Given the description of an element on the screen output the (x, y) to click on. 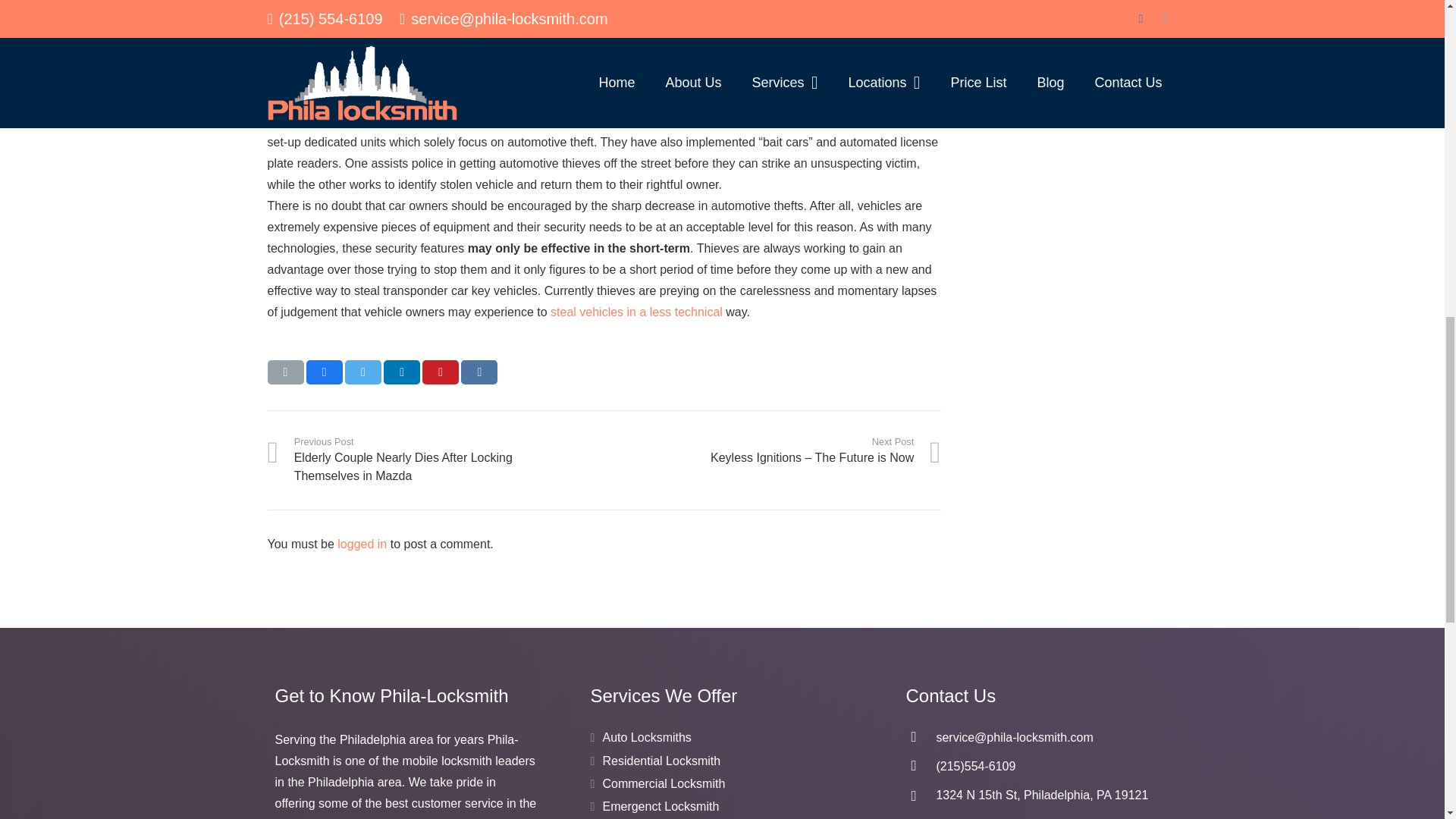
Back to top (1413, 30)
Email this (284, 372)
mobile locksmith (793, 14)
mobile locksmith (793, 14)
Tweet this (363, 372)
Share this (323, 372)
Share this (479, 372)
car theft methods (636, 311)
Elderly Couple Nearly Dies After Locking Themselves in Mazda (435, 459)
Share this (402, 372)
Pin this (440, 372)
steal vehicles in a less technical (636, 311)
